Given the description of an element on the screen output the (x, y) to click on. 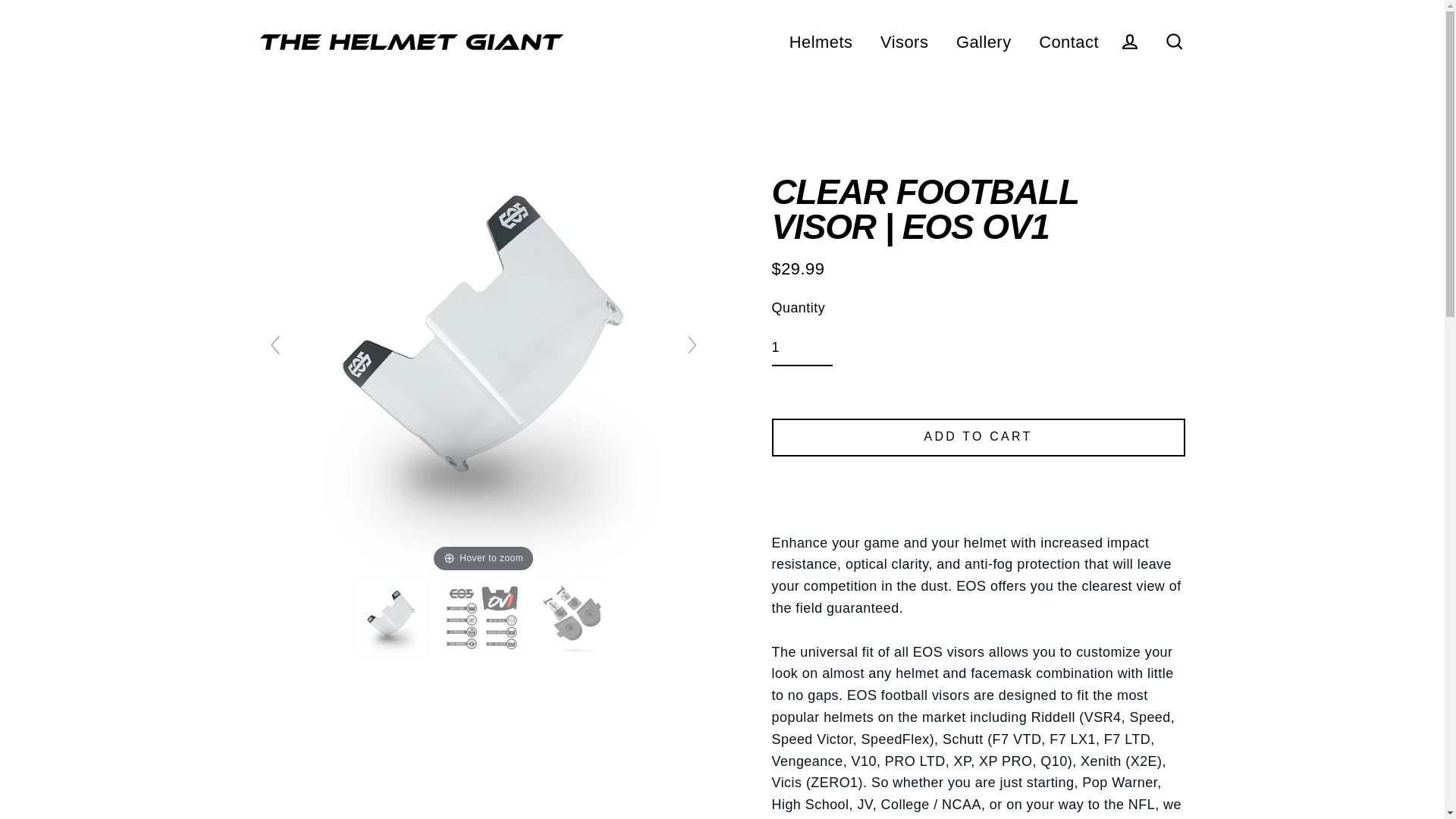
Helmets (820, 41)
1 (801, 348)
